Given the description of an element on the screen output the (x, y) to click on. 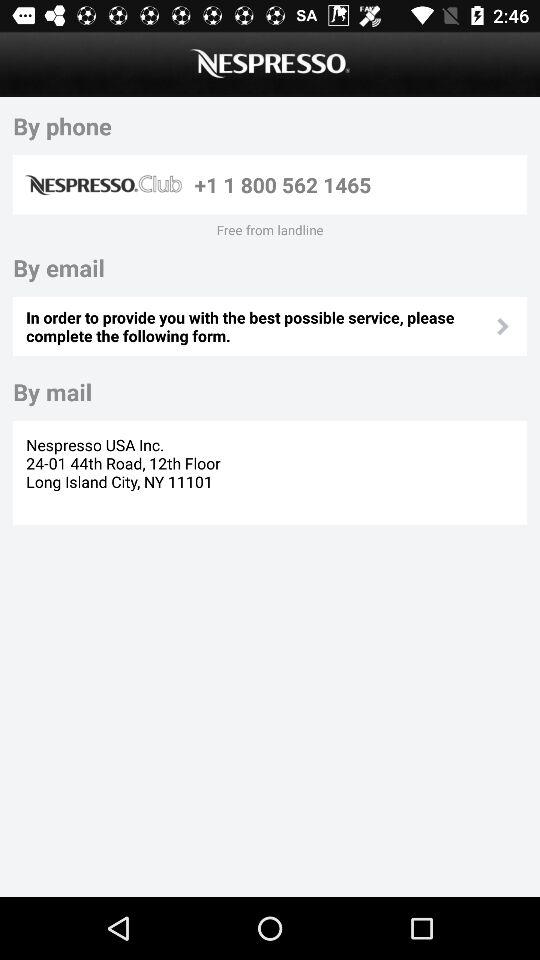
jump until the nespresso usa inc icon (125, 472)
